Given the description of an element on the screen output the (x, y) to click on. 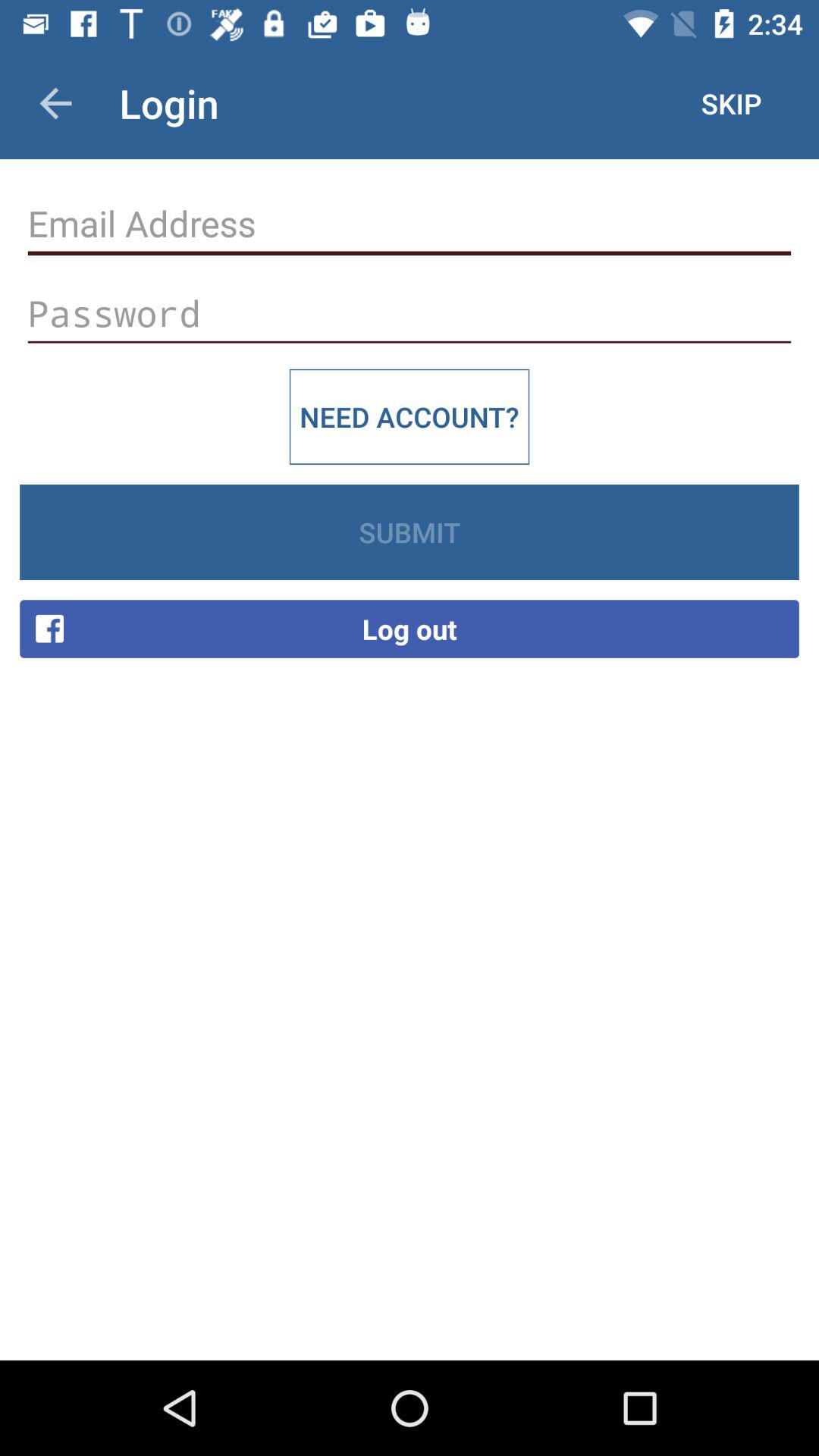
type the email id (409, 224)
